Given the description of an element on the screen output the (x, y) to click on. 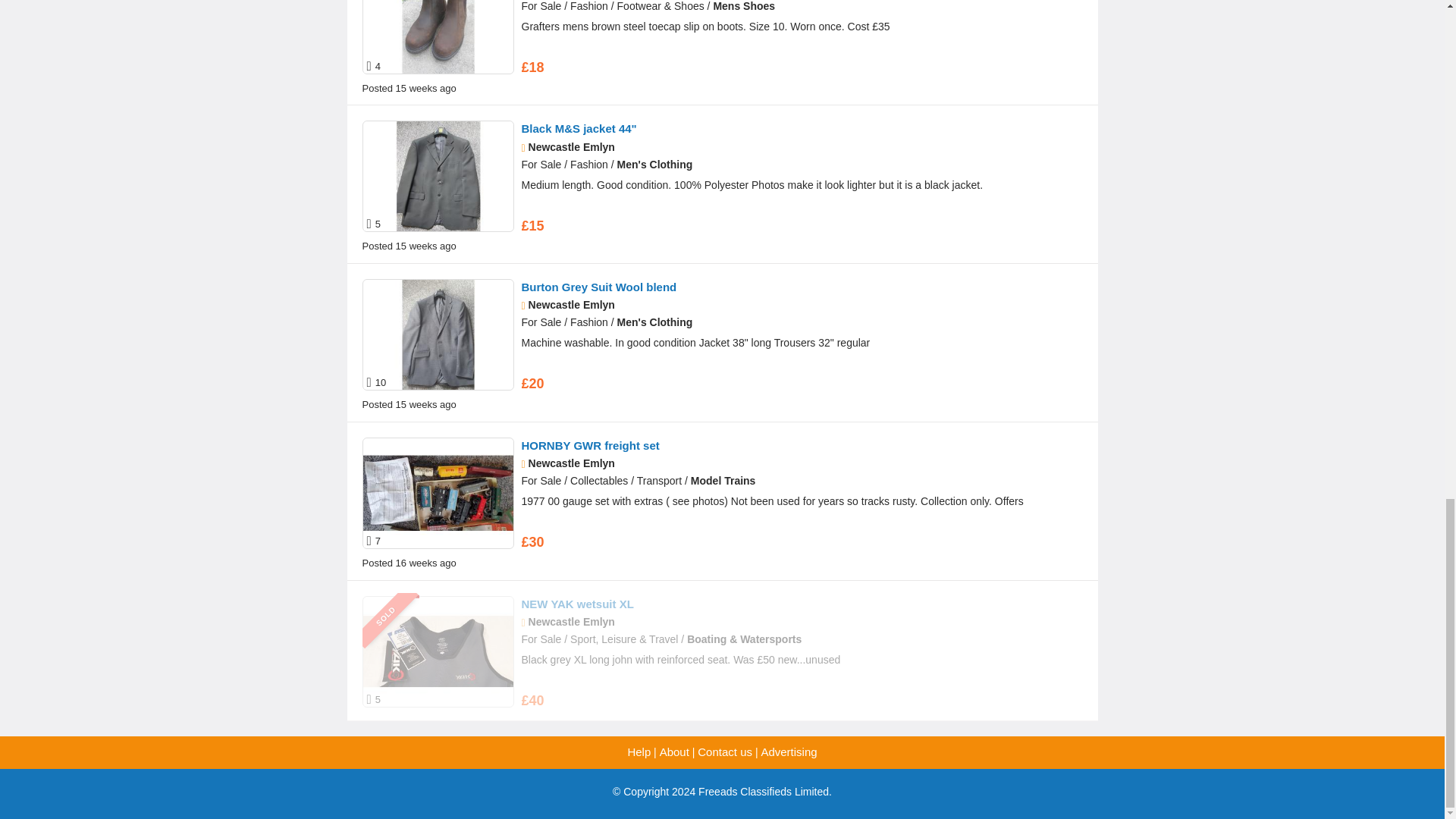
About (673, 751)
Contact us (724, 751)
Advertising (788, 751)
Help (638, 751)
Burton Grey Suit Wool blend (599, 286)
HORNBY GWR freight set (590, 445)
NEW YAK wetsuit XL (577, 603)
